Given the description of an element on the screen output the (x, y) to click on. 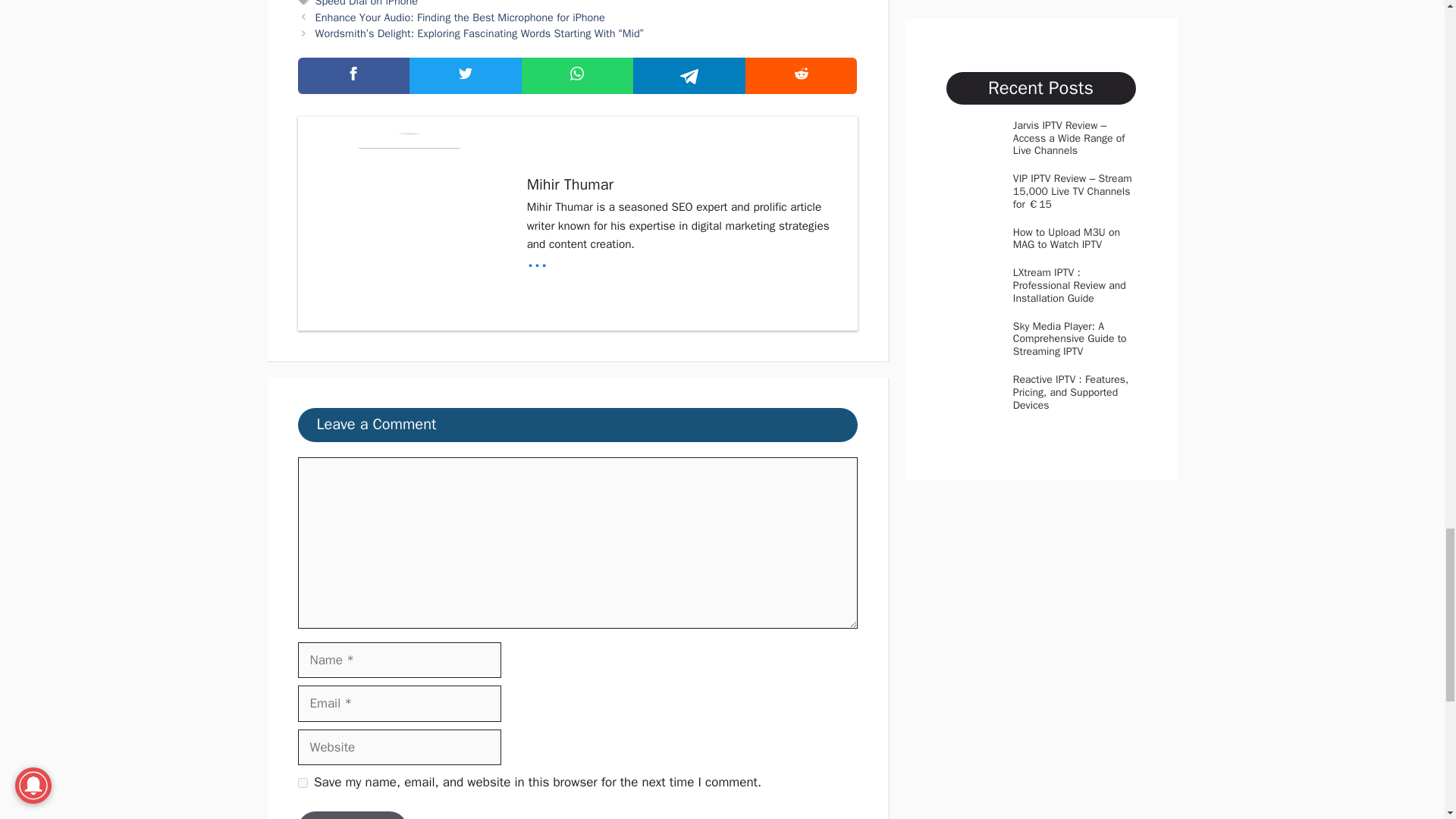
Enhance Your Audio: Finding the Best Microphone for iPhone (460, 17)
Post Comment (352, 815)
yes (302, 782)
Post Comment (352, 815)
Speed Dial on iPhone (367, 3)
